Given the description of an element on the screen output the (x, y) to click on. 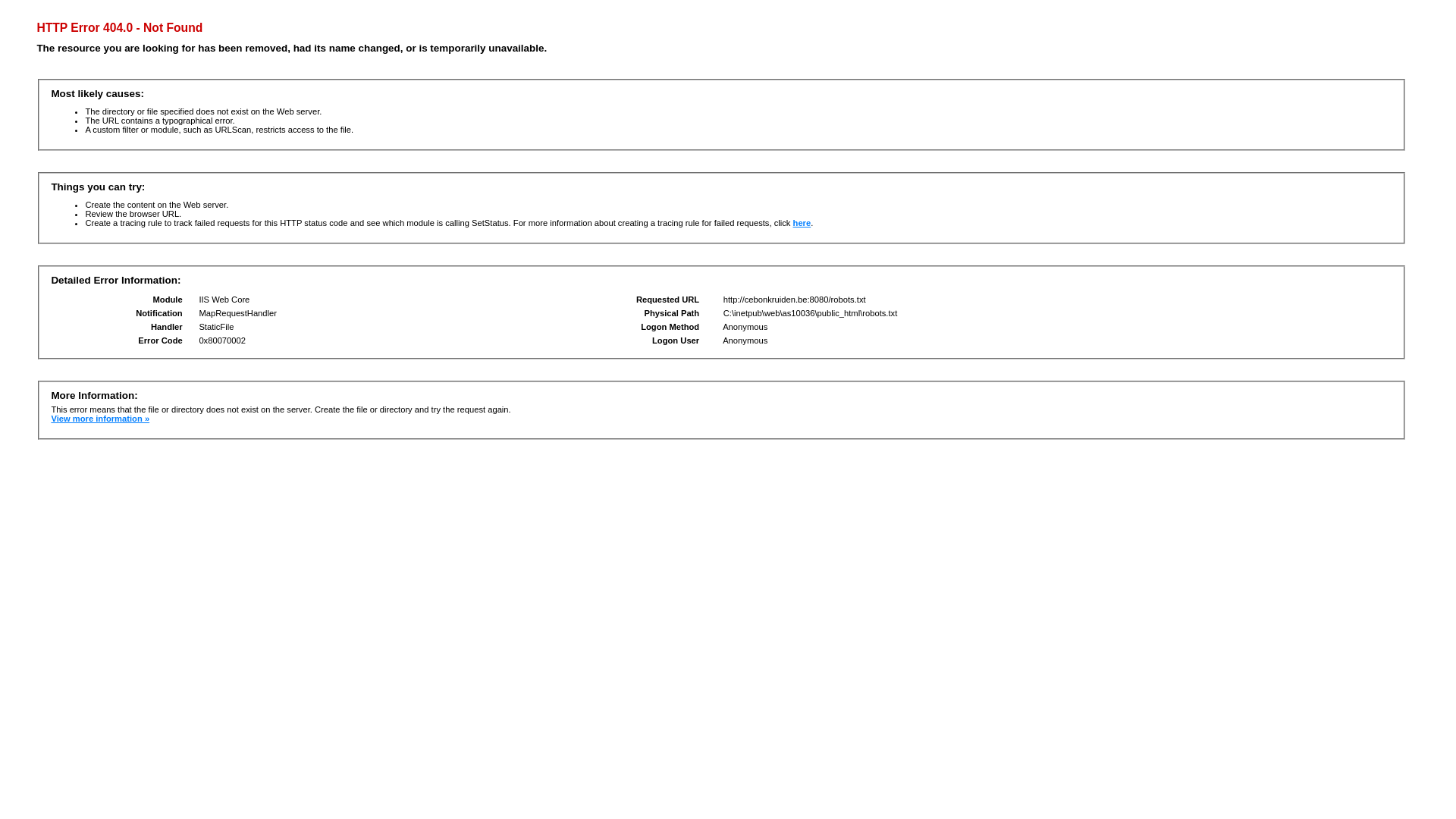
here Element type: text (802, 222)
